Given the description of an element on the screen output the (x, y) to click on. 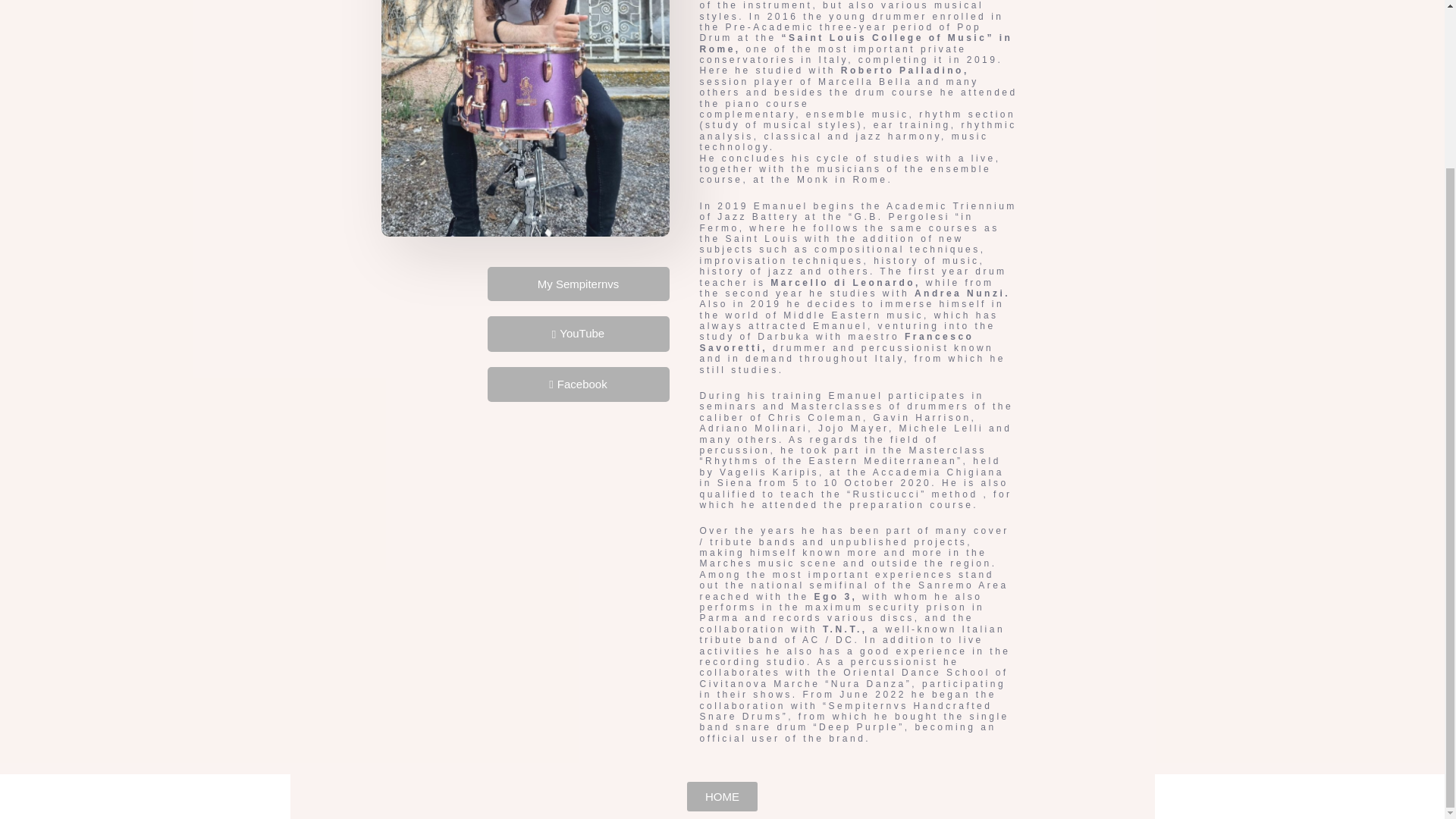
My Sempiternvs (577, 283)
YouTube (577, 334)
Facebook (577, 384)
HOME (722, 796)
